Given the description of an element on the screen output the (x, y) to click on. 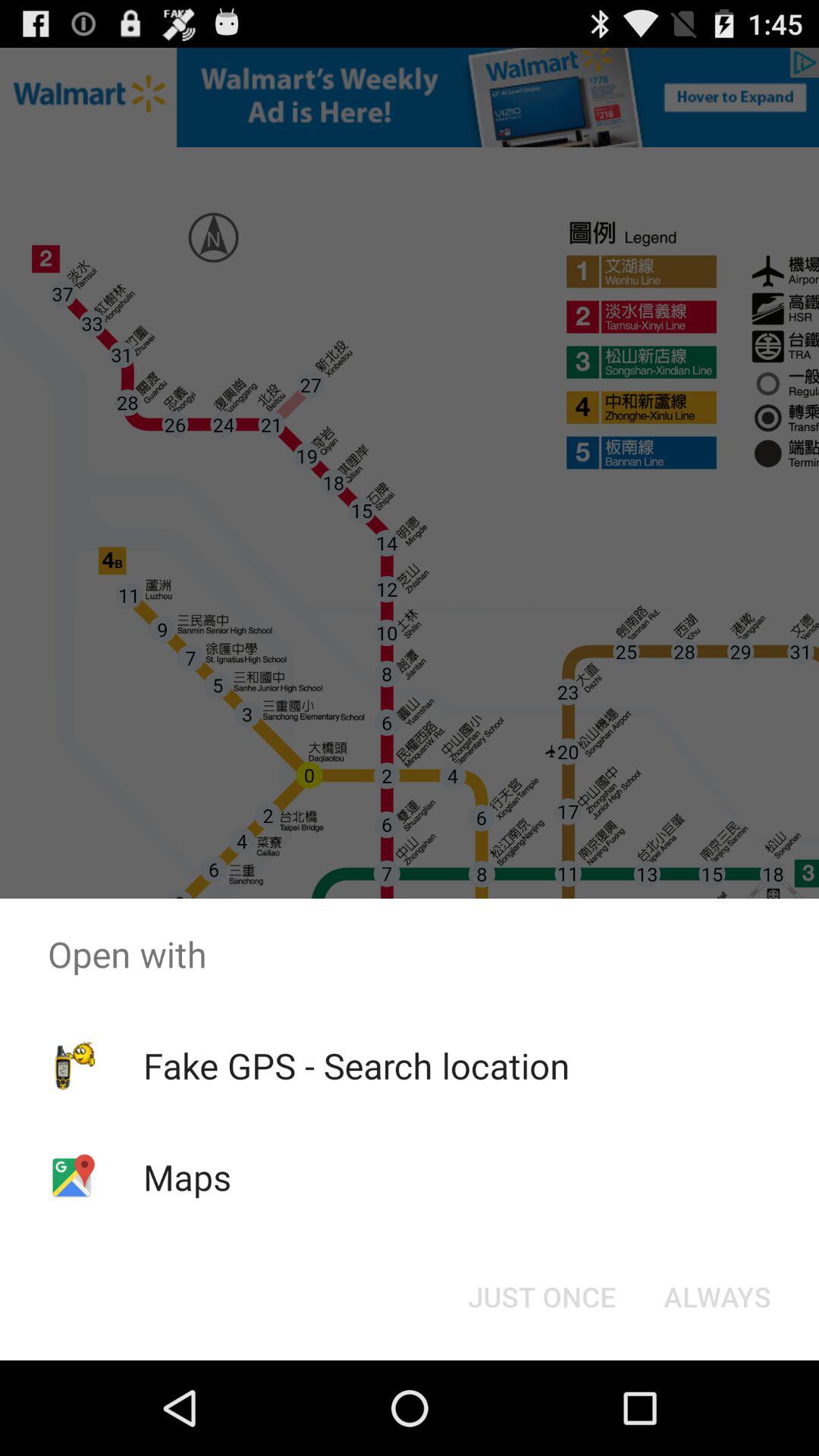
open icon below the open with app (356, 1065)
